Given the description of an element on the screen output the (x, y) to click on. 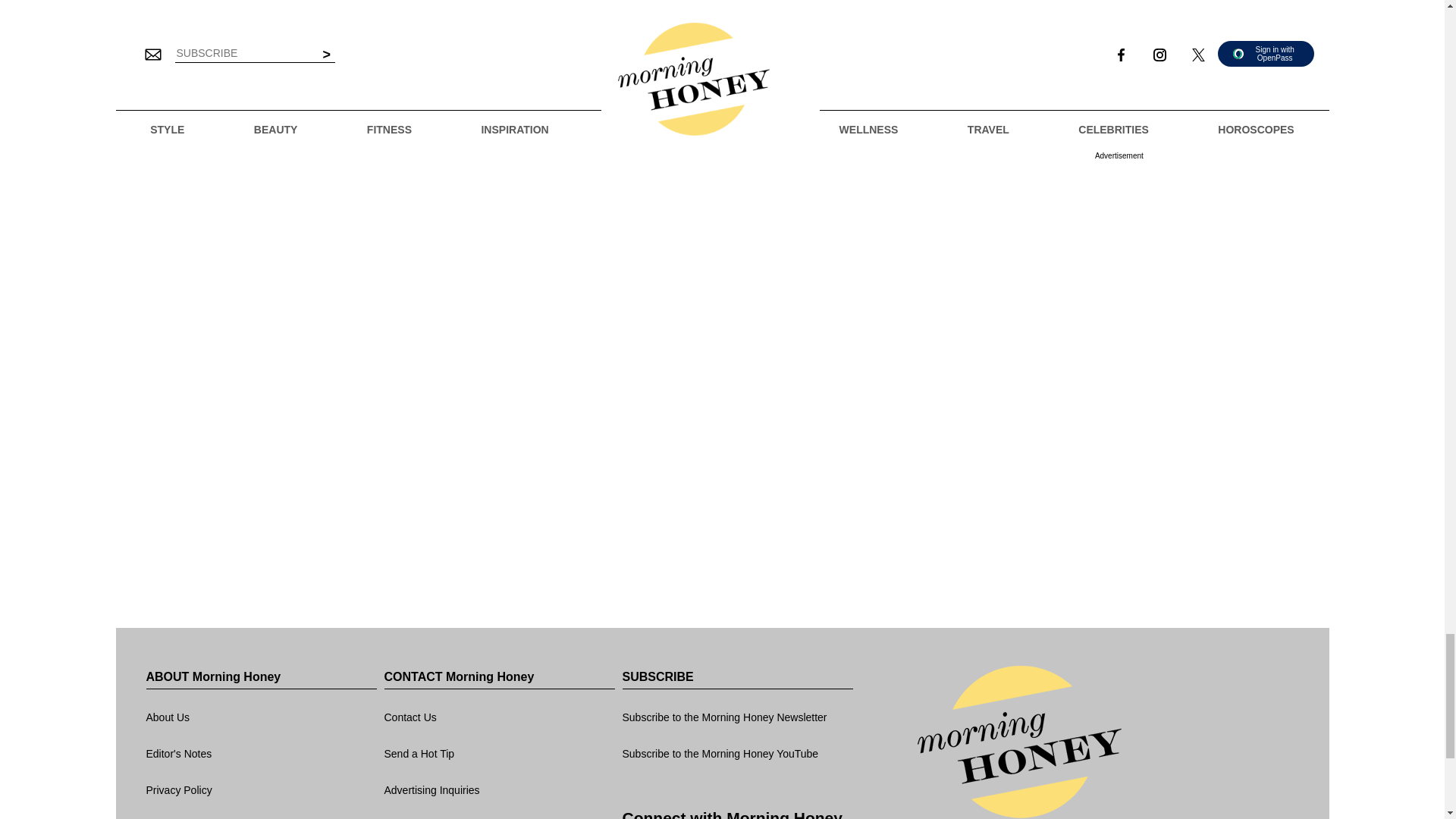
Contact Us (499, 718)
About Us (260, 718)
Privacy Policy (260, 791)
Advertising Inquiries (499, 791)
Send a Hot Tip (499, 754)
Terms of Use (260, 814)
Subscribe to the Morning Honey YouTube (736, 754)
Subscribe to the Morning Honey Newsletter (736, 718)
Editor's Notes (260, 754)
Media Inquiries (499, 814)
